Given the description of an element on the screen output the (x, y) to click on. 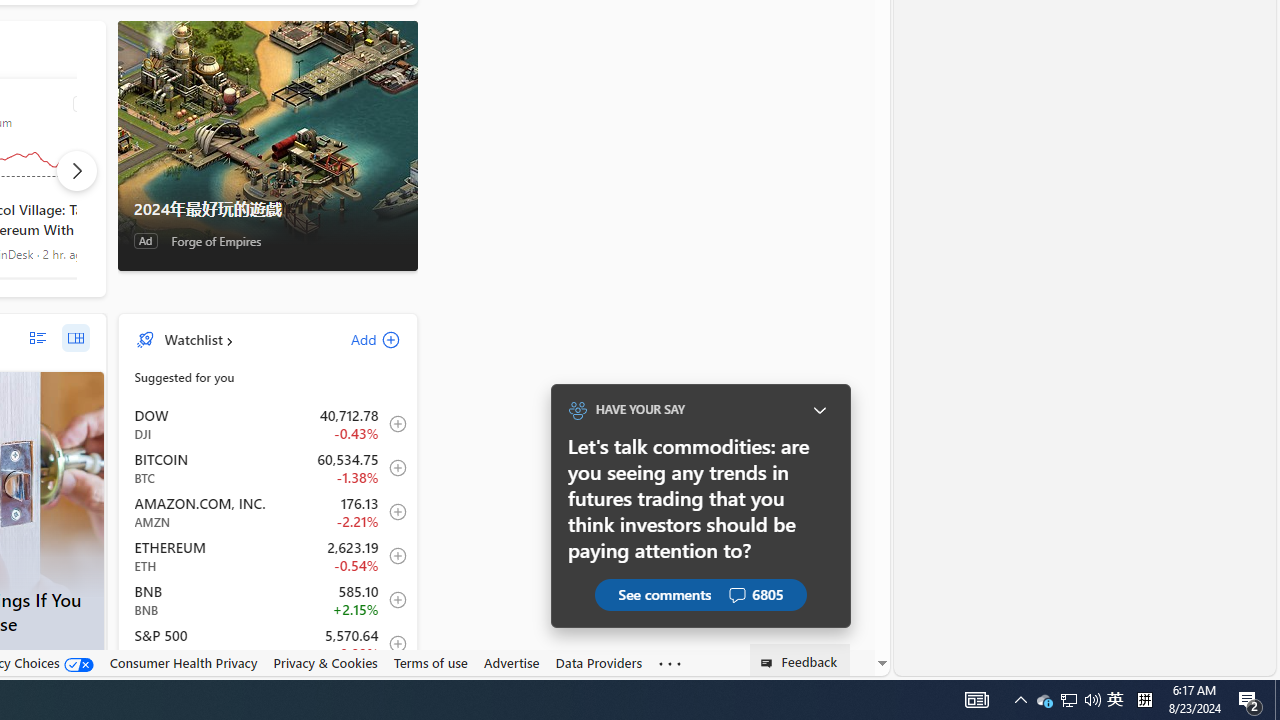
Terms of use (430, 662)
Add (358, 339)
Class: oneFooter_seeMore-DS-EntryPoint1-1 (669, 663)
grid layout (75, 338)
Privacy & Cookies (324, 662)
AMZN AMAZON.COM, INC. decrease 176.13 -3.98 -2.21% item2 (267, 512)
Data Providers (598, 662)
INX S&P 500 decrease 5,570.64 -50.21 -0.89% item5 (267, 644)
BNB BNB increase 585.10 +12.60 +2.15% item4 (267, 600)
Consumer Health Privacy (183, 662)
Consumer Health Privacy (183, 663)
Terms of use (430, 663)
